Given the description of an element on the screen output the (x, y) to click on. 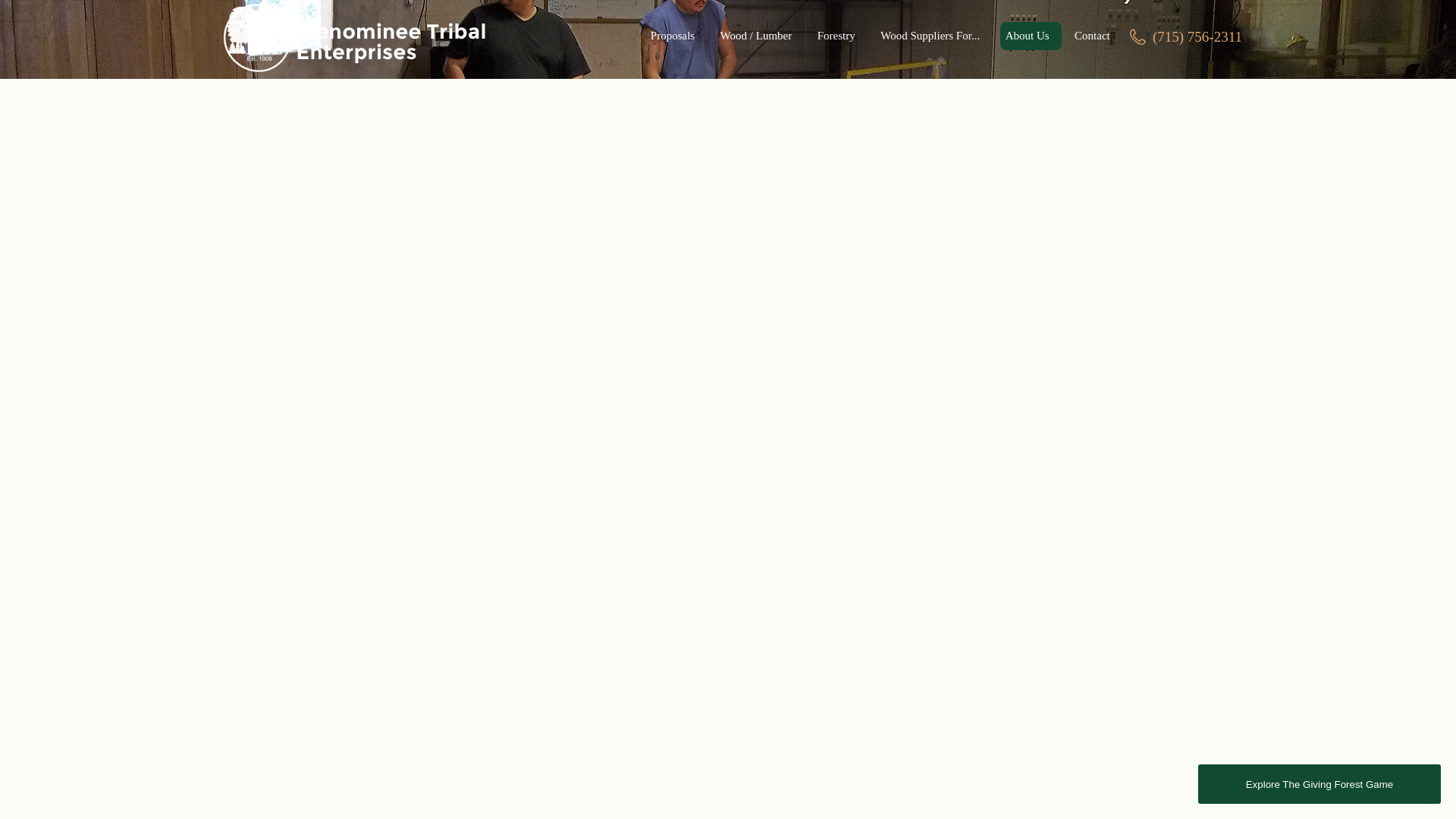
Lumber and wood products for sale (759, 35)
About Us   (1030, 35)
Contact (1092, 35)
Wood Suppliers For...   (933, 35)
Quality wood products and sustainable forestry (353, 38)
Forestry   (839, 35)
Proposals   (676, 35)
